Given the description of an element on the screen output the (x, y) to click on. 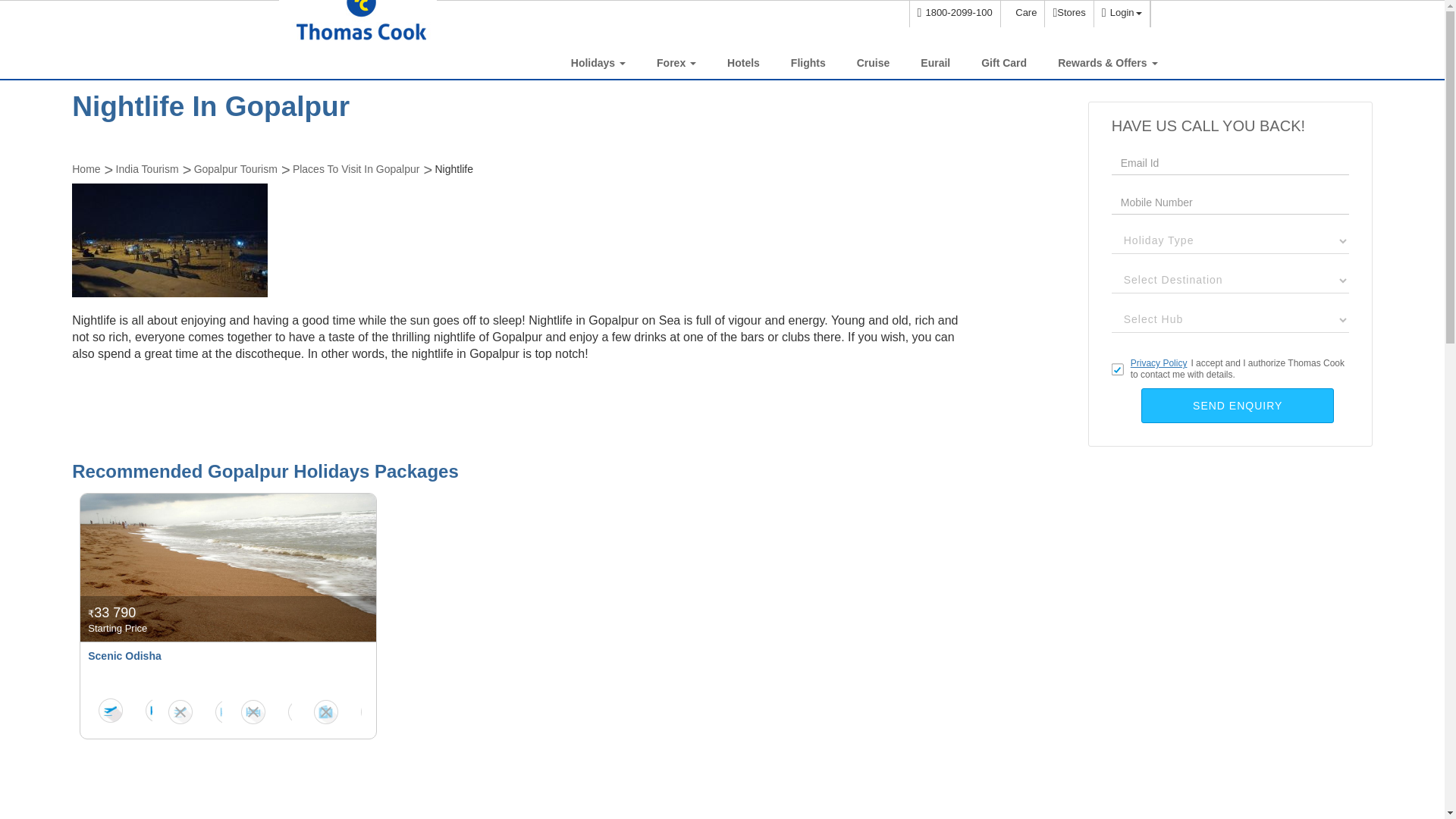
Care (1022, 13)
1800-2099-100 (954, 13)
Login (1121, 13)
Stores (1068, 13)
